Given the description of an element on the screen output the (x, y) to click on. 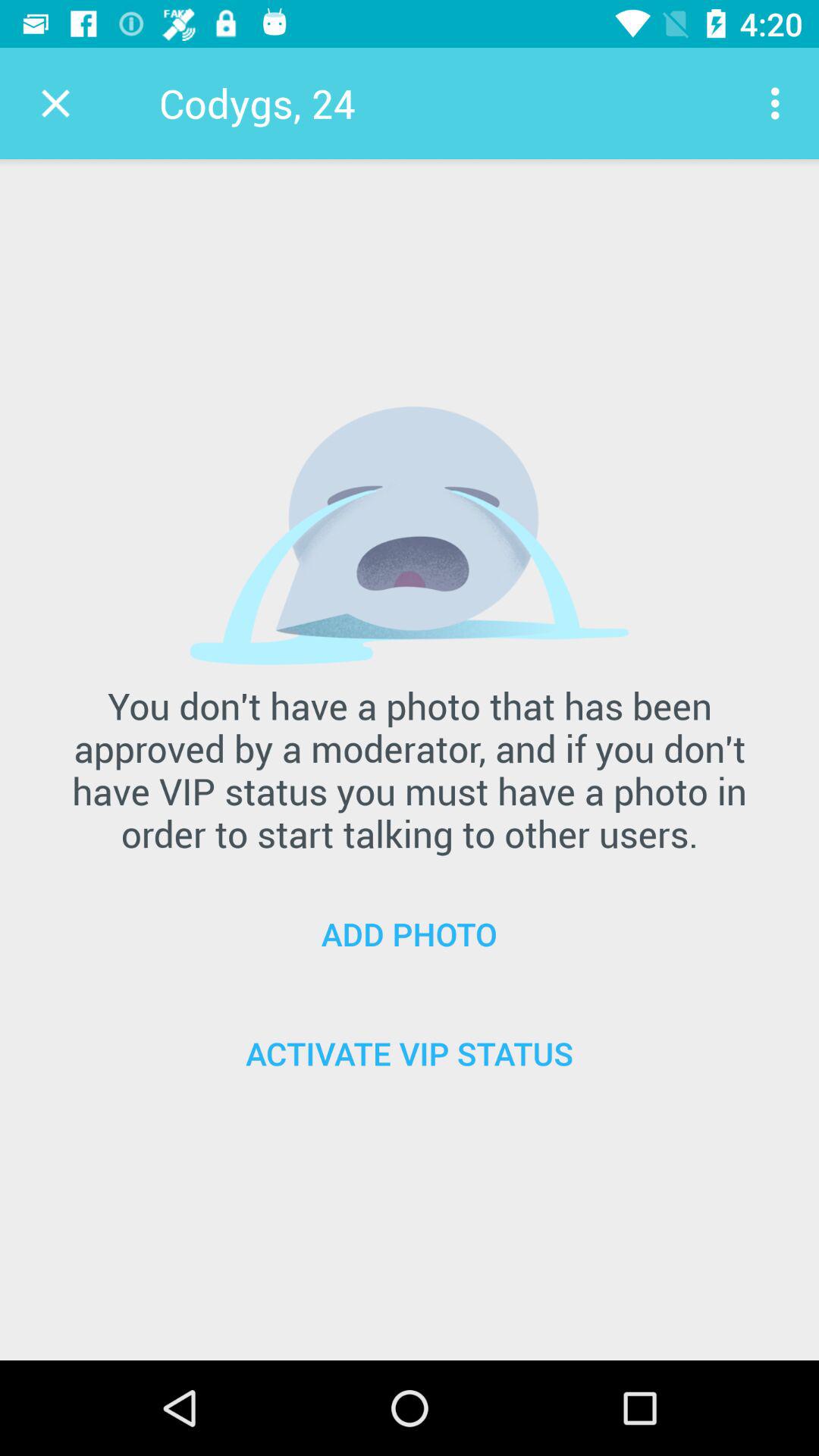
press item at the top right corner (779, 103)
